Given the description of an element on the screen output the (x, y) to click on. 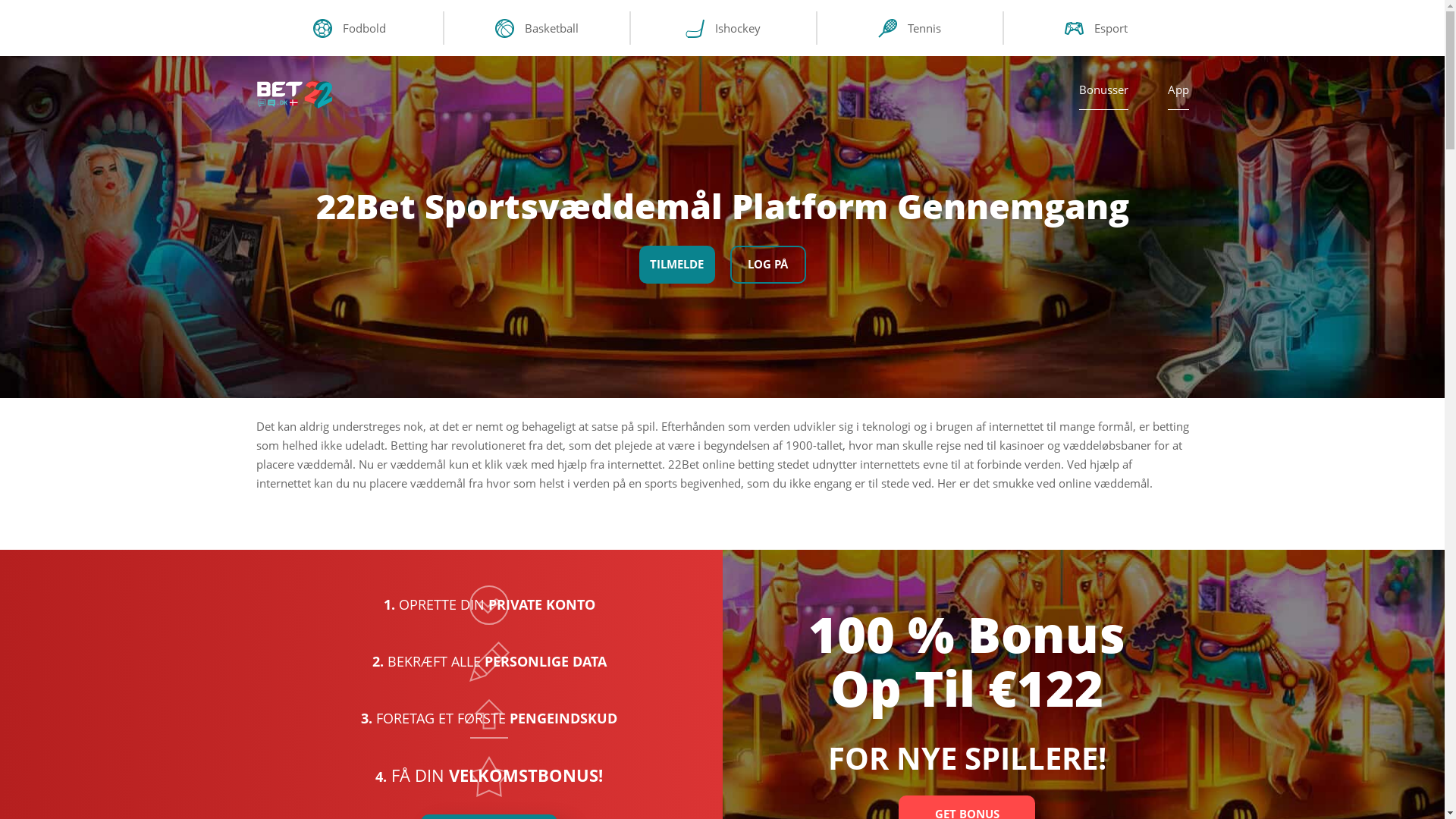
Basketball Element type: hover (503, 27)
Esport Element type: text (1096, 27)
Bonusser Element type: text (1102, 94)
Ishockey Element type: text (722, 27)
Esport Element type: hover (1073, 27)
Basketball Element type: text (536, 27)
personlige data Element type: hover (488, 661)
Fodbold Element type: hover (321, 27)
pengeindskud Element type: hover (489, 718)
private konto Element type: hover (488, 604)
22Bet Danmark Element type: hover (294, 94)
Fodbold Element type: text (349, 27)
22Bet velkomstbonus Element type: hover (488, 776)
App Element type: text (1178, 94)
TILMELDE Element type: text (676, 264)
Tennis Element type: text (909, 27)
Tennis Element type: hover (887, 27)
Ishockey Element type: hover (694, 27)
